Given the description of an element on the screen output the (x, y) to click on. 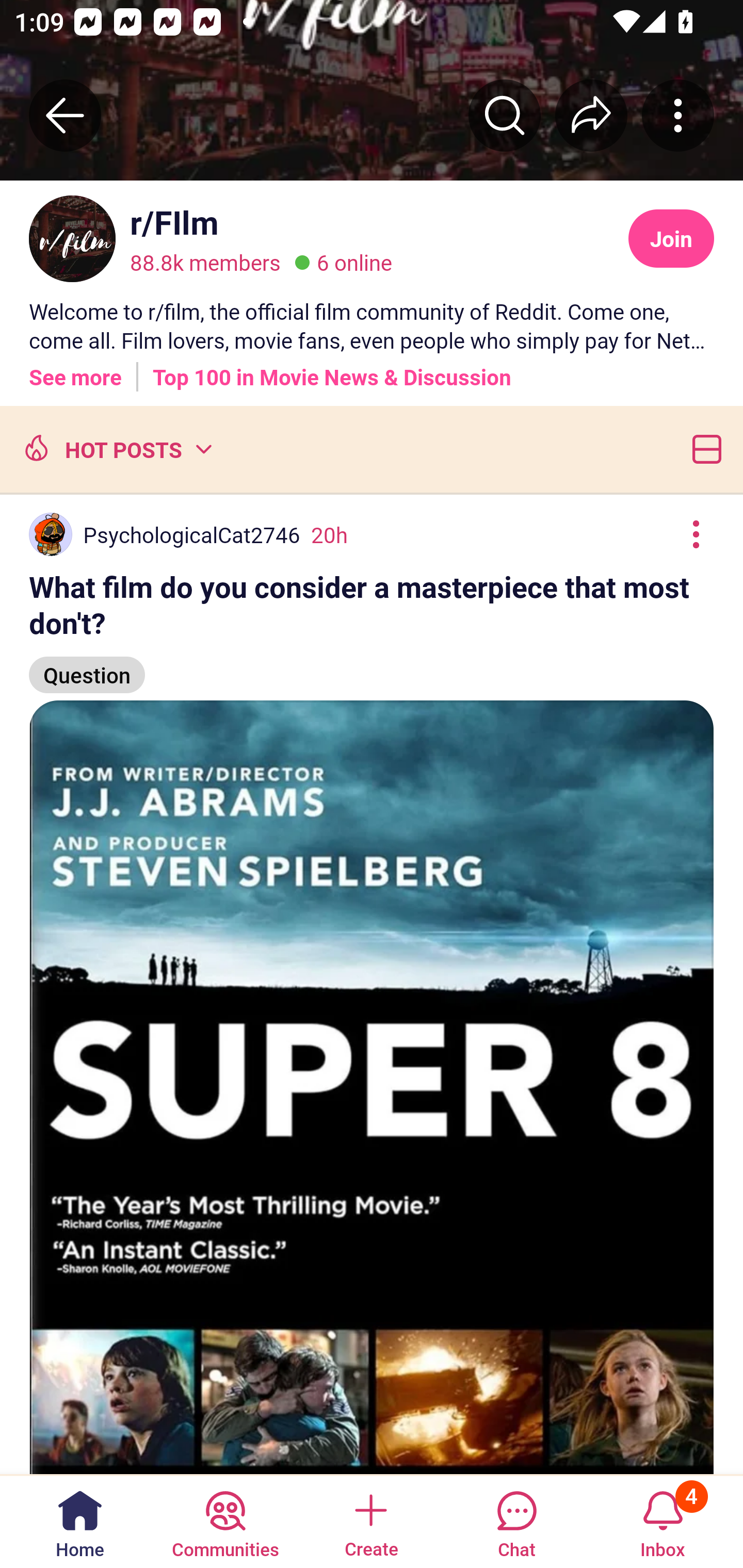
Back (64, 115)
Search r/﻿FIlm (504, 115)
Share r/﻿FIlm (591, 115)
More community actions (677, 115)
Hot posts HOT POSTS (116, 449)
Card (703, 449)
Question (86, 665)
Home (80, 1520)
Communities (225, 1520)
Create a post Create (370, 1520)
Chat (516, 1520)
Inbox, has 4 notifications 4 Inbox (662, 1520)
